Given the description of an element on the screen output the (x, y) to click on. 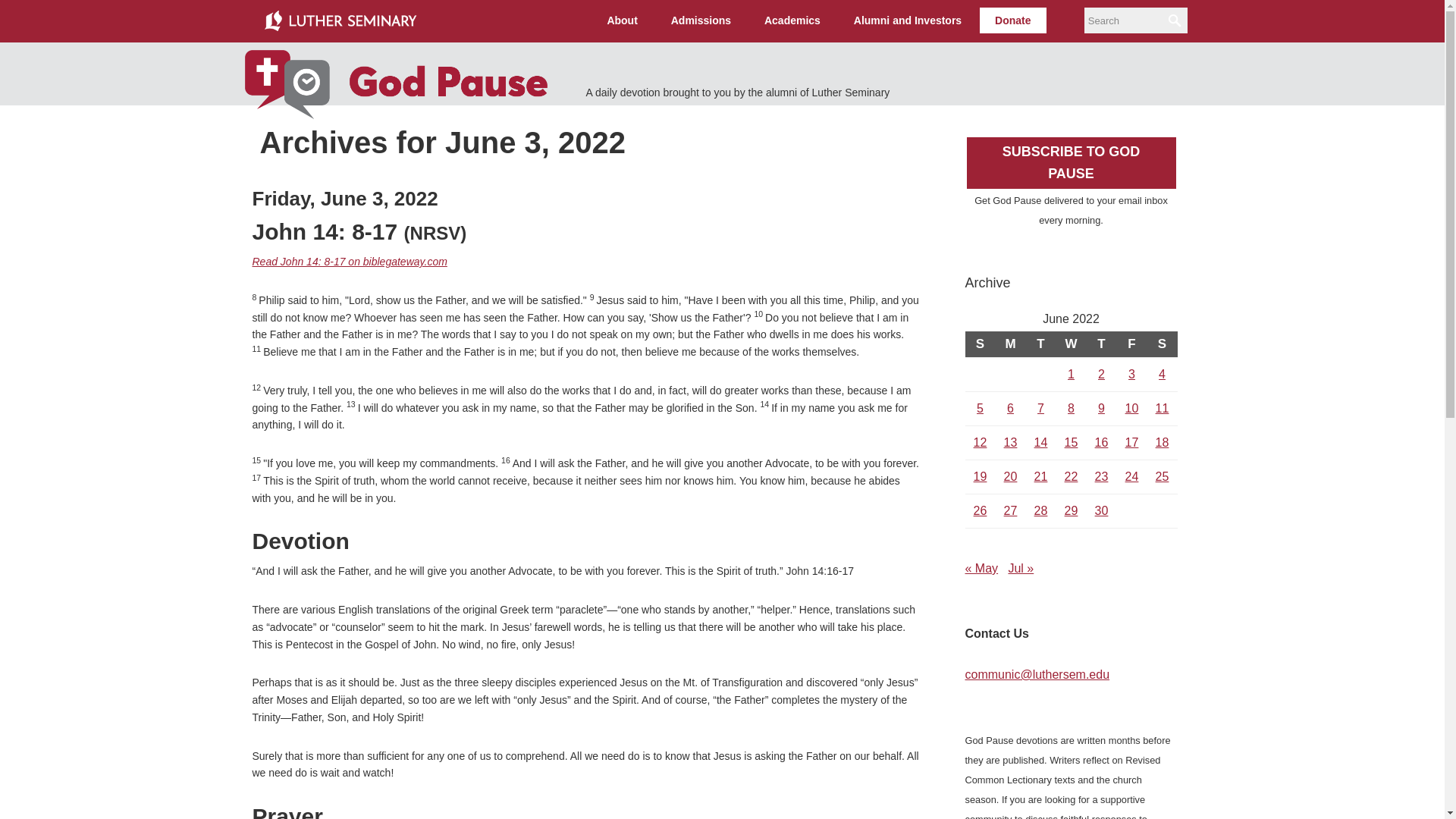
Wednesday (1070, 344)
Monday (1009, 344)
Friday (1131, 344)
Luther Seminary (339, 21)
Academics (792, 20)
Sunday (978, 344)
Admissions (700, 20)
Luther Seminary (339, 21)
Alumni and Investors (907, 20)
About (621, 20)
